Given the description of an element on the screen output the (x, y) to click on. 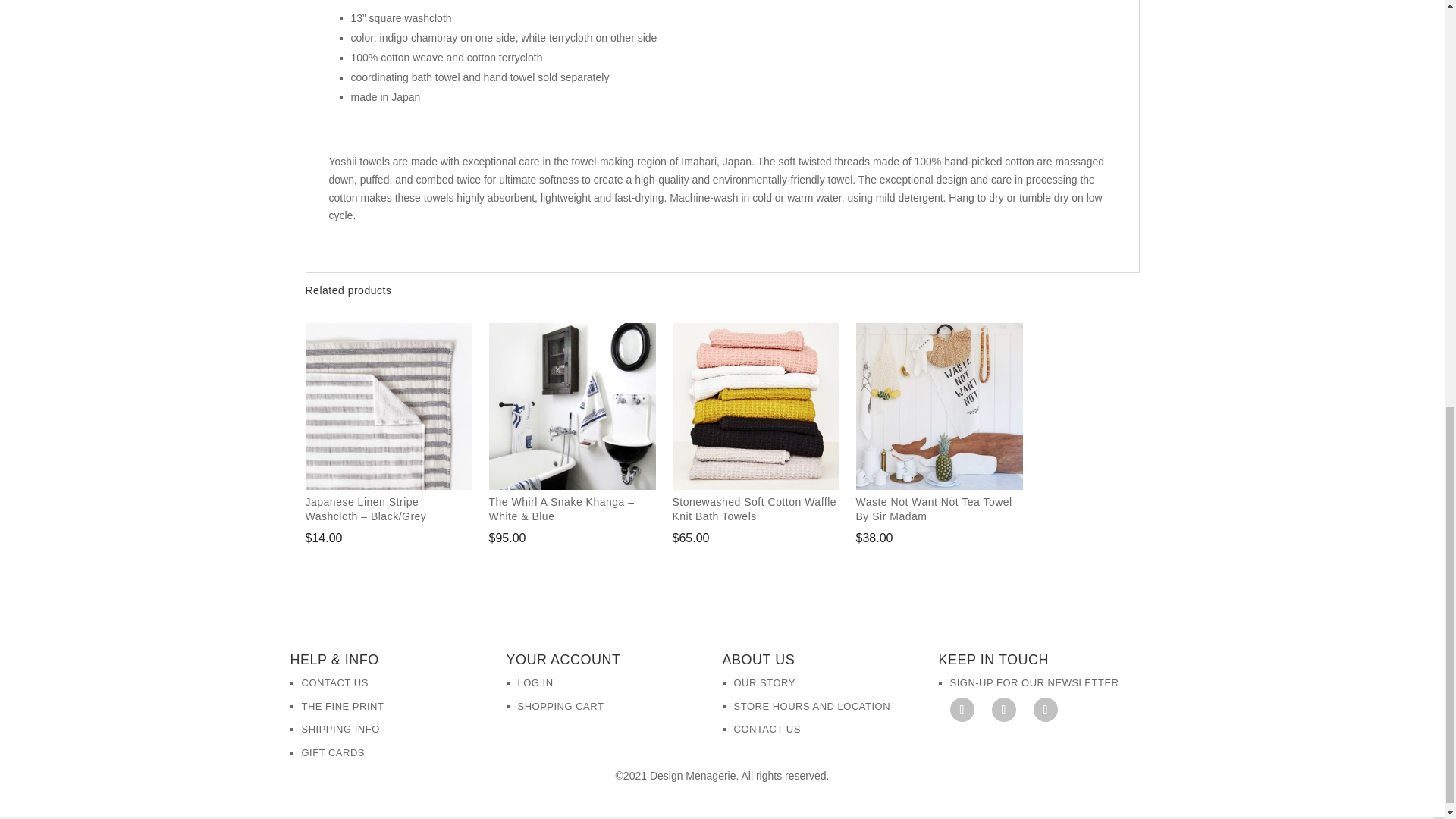
Follow on Instagram (1044, 709)
Follow on Facebook (961, 709)
Follow on Pinterest (1003, 709)
